Given the description of an element on the screen output the (x, y) to click on. 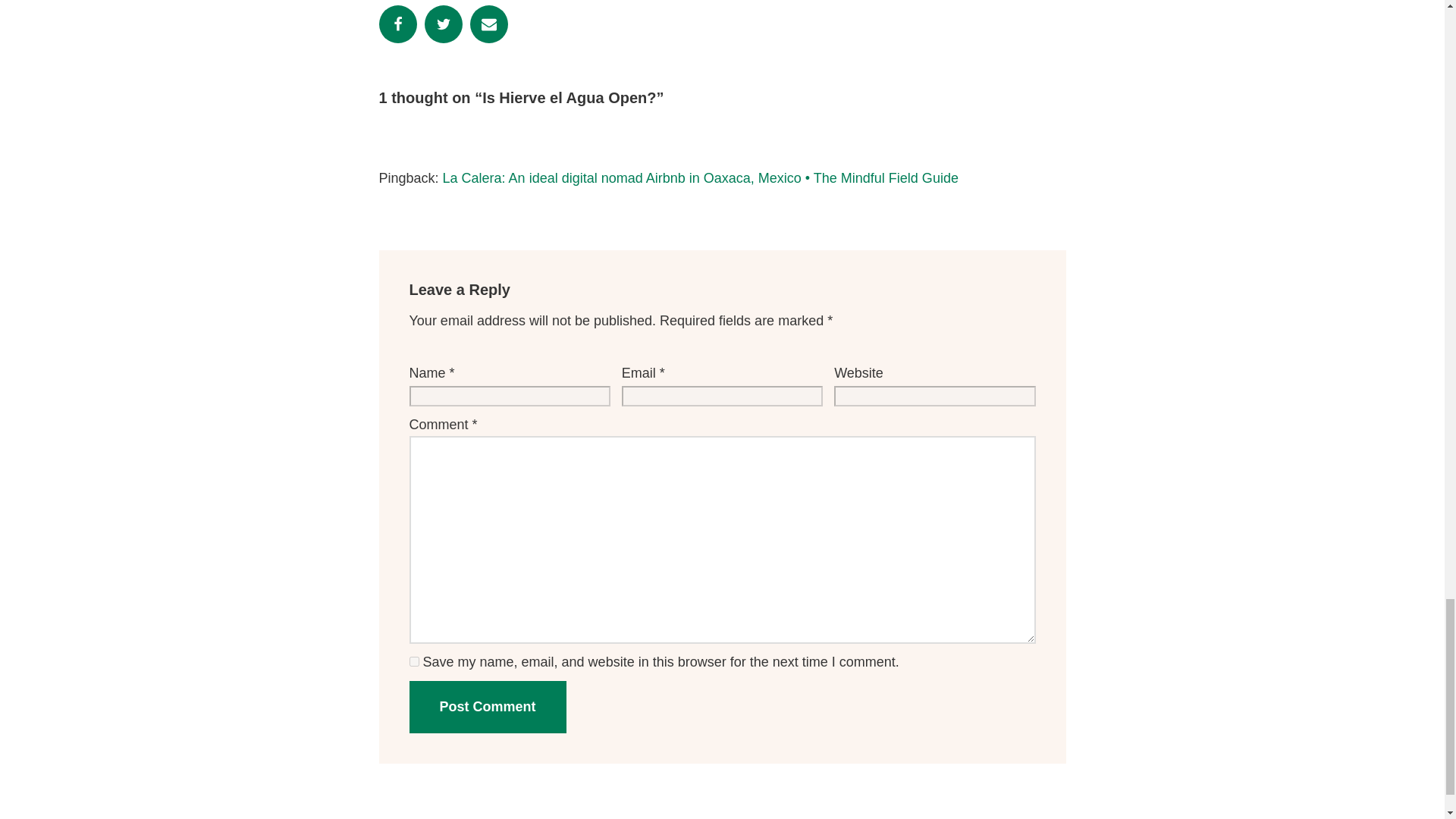
Post Comment (487, 706)
Twitter (444, 23)
Email (489, 23)
yes (414, 661)
Facebook (397, 23)
Post Comment (487, 706)
